Given the description of an element on the screen output the (x, y) to click on. 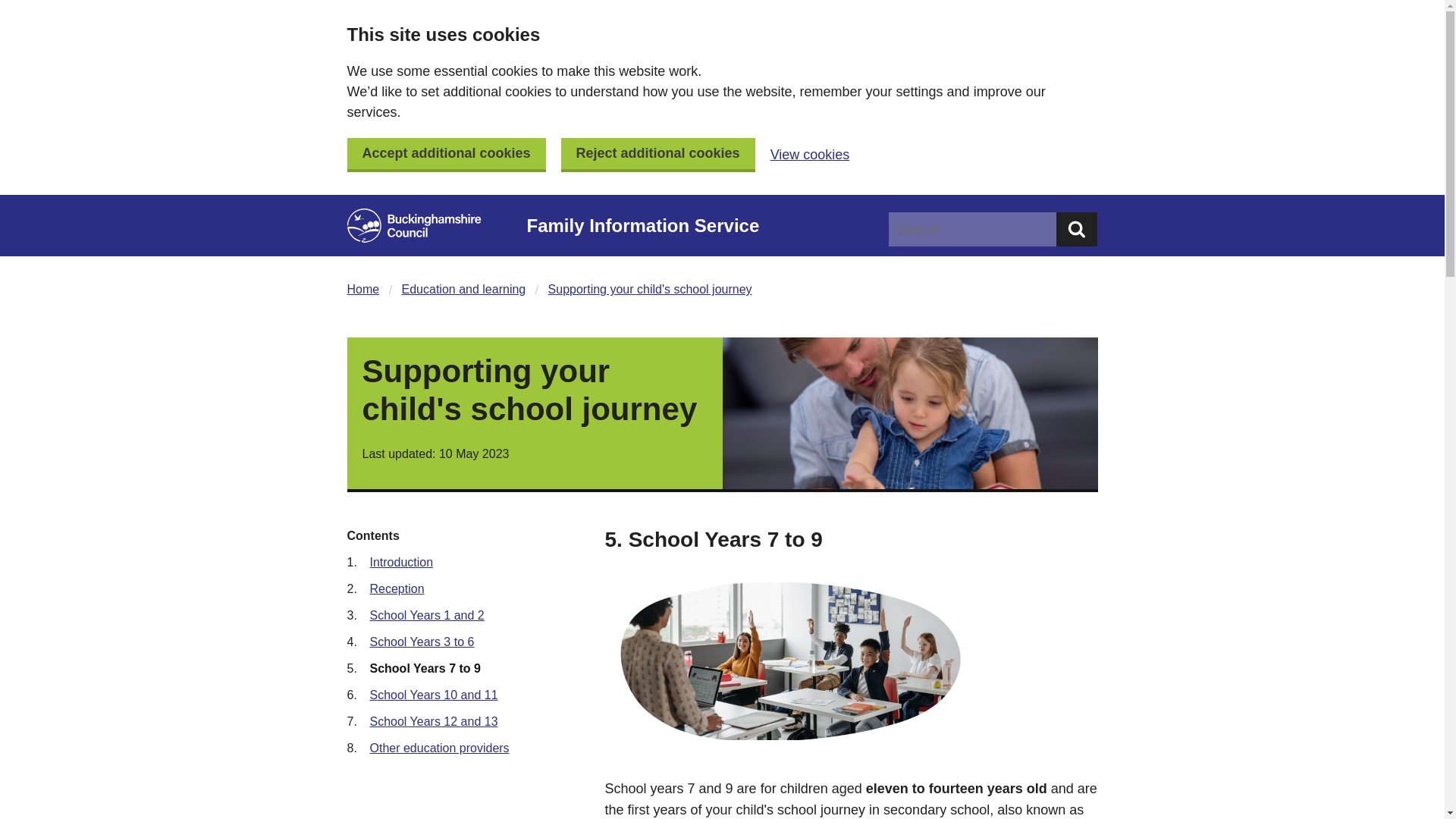
School Years 1 and 2 (426, 615)
Family Information Service (702, 225)
Reject additional cookies (657, 154)
Education and learning (463, 289)
Reception (397, 588)
Supporting your child's school journey (650, 289)
School Years 12 and 13 (433, 721)
View cookies (810, 154)
School Years 10 and 11 (433, 694)
Accept additional cookies (446, 154)
